Given the description of an element on the screen output the (x, y) to click on. 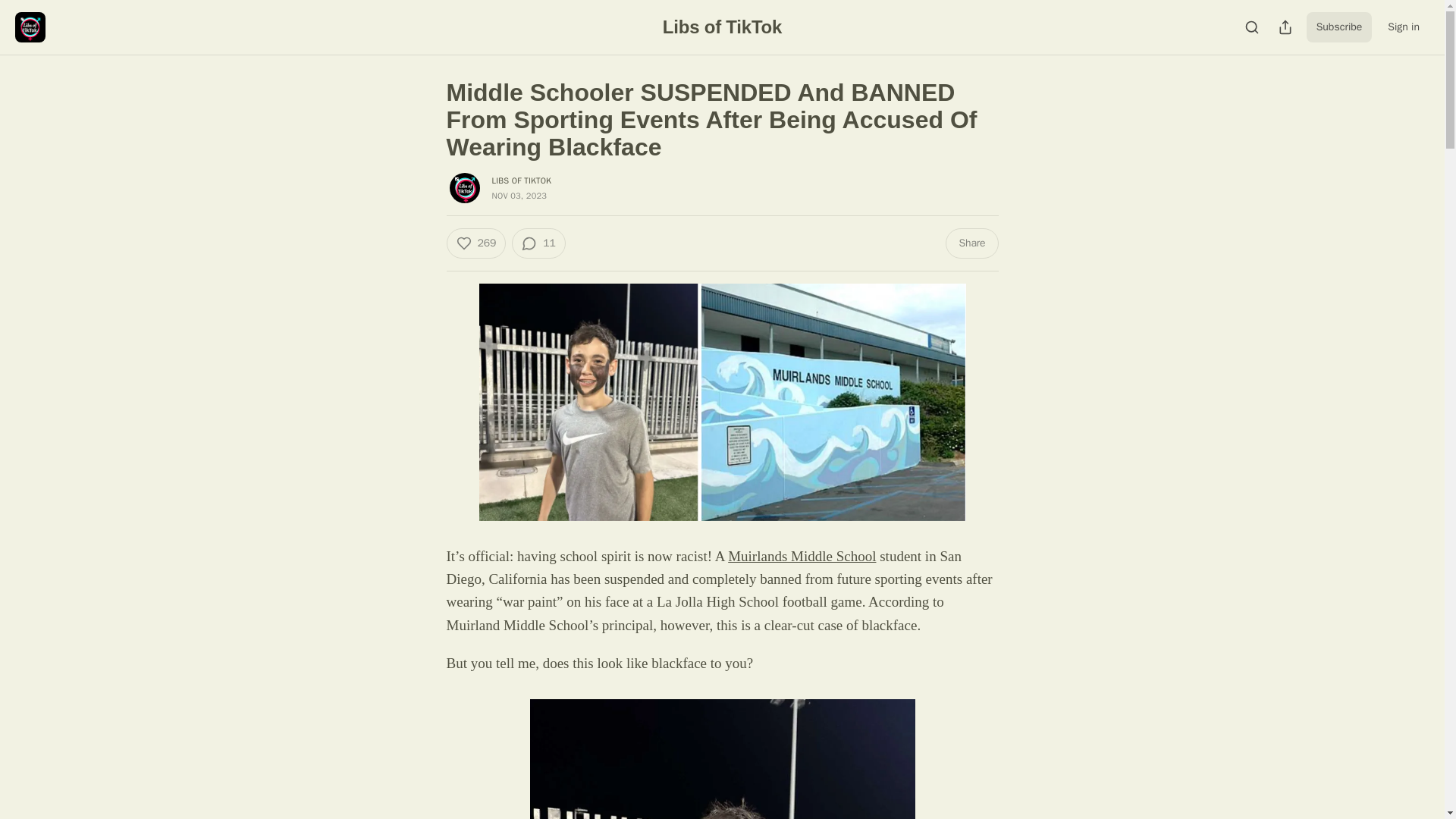
Libs of TikTok (721, 26)
11 (539, 243)
269 (475, 243)
Share (970, 243)
Muirlands Middle School (802, 555)
LIBS OF TIKTOK (521, 180)
Subscribe (1339, 27)
Sign in (1403, 27)
